Given the description of an element on the screen output the (x, y) to click on. 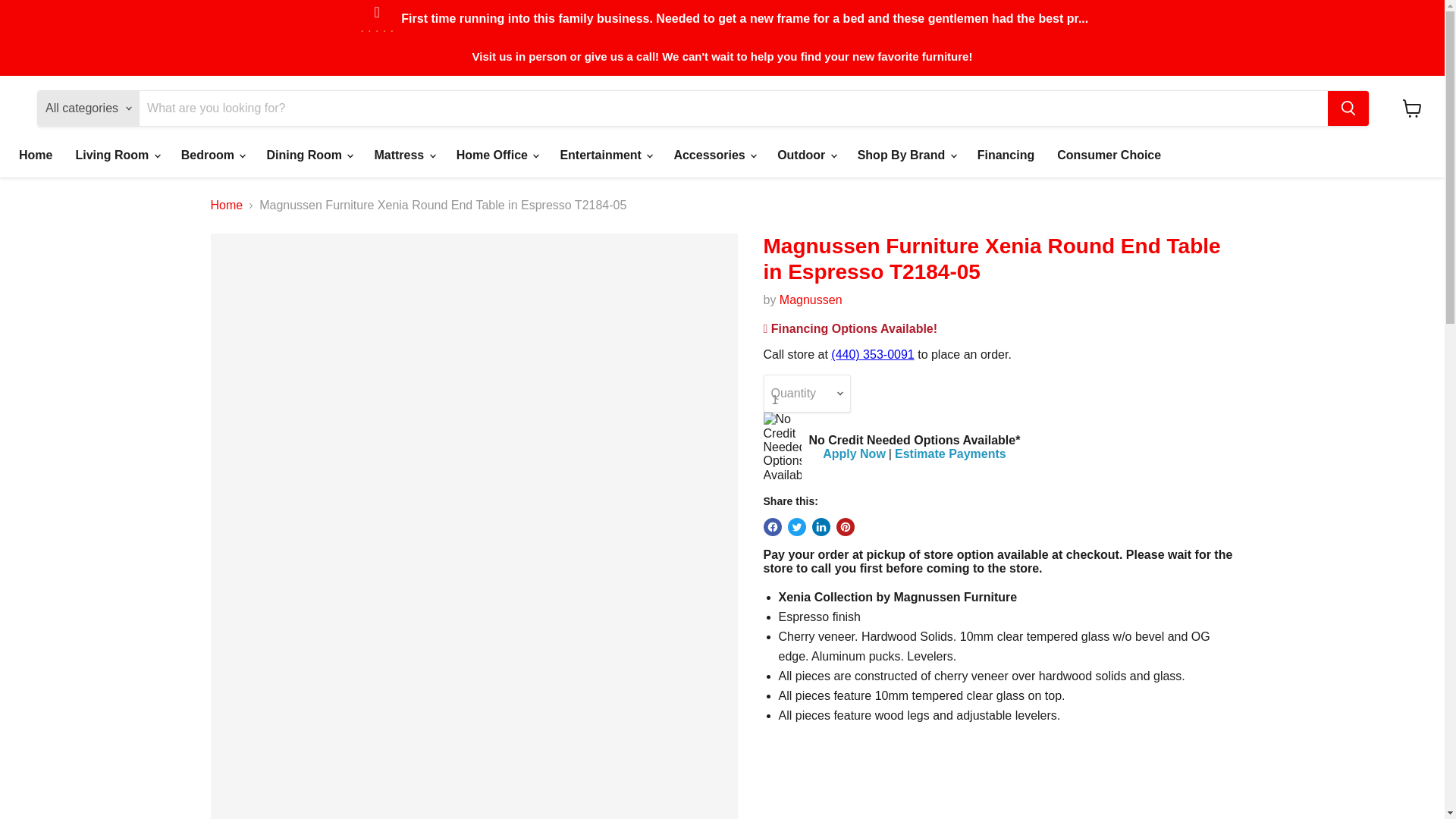
Magnussen (810, 299)
Home (35, 155)
View cart (1411, 108)
